Given the description of an element on the screen output the (x, y) to click on. 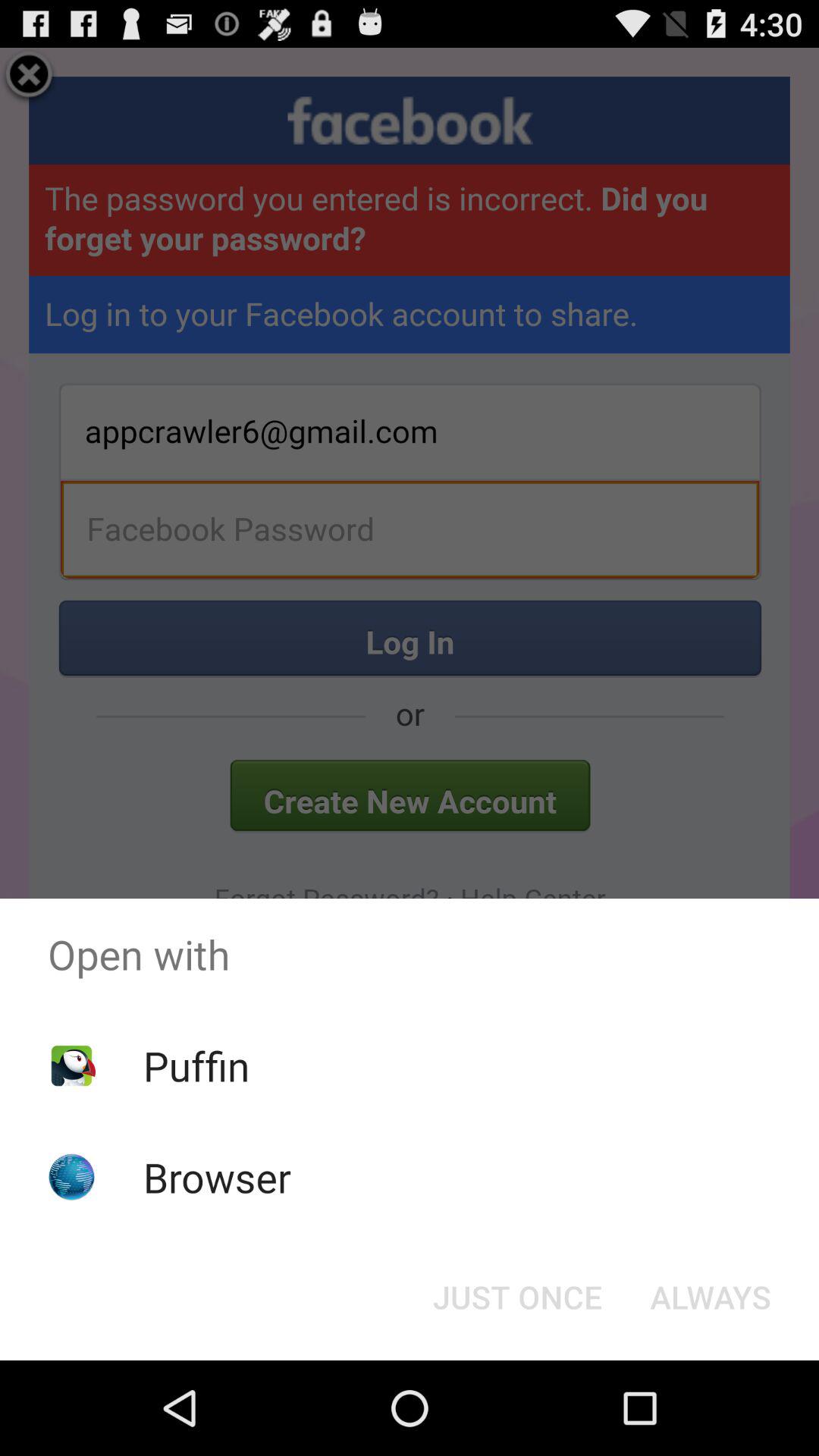
launch item below open with item (710, 1296)
